Given the description of an element on the screen output the (x, y) to click on. 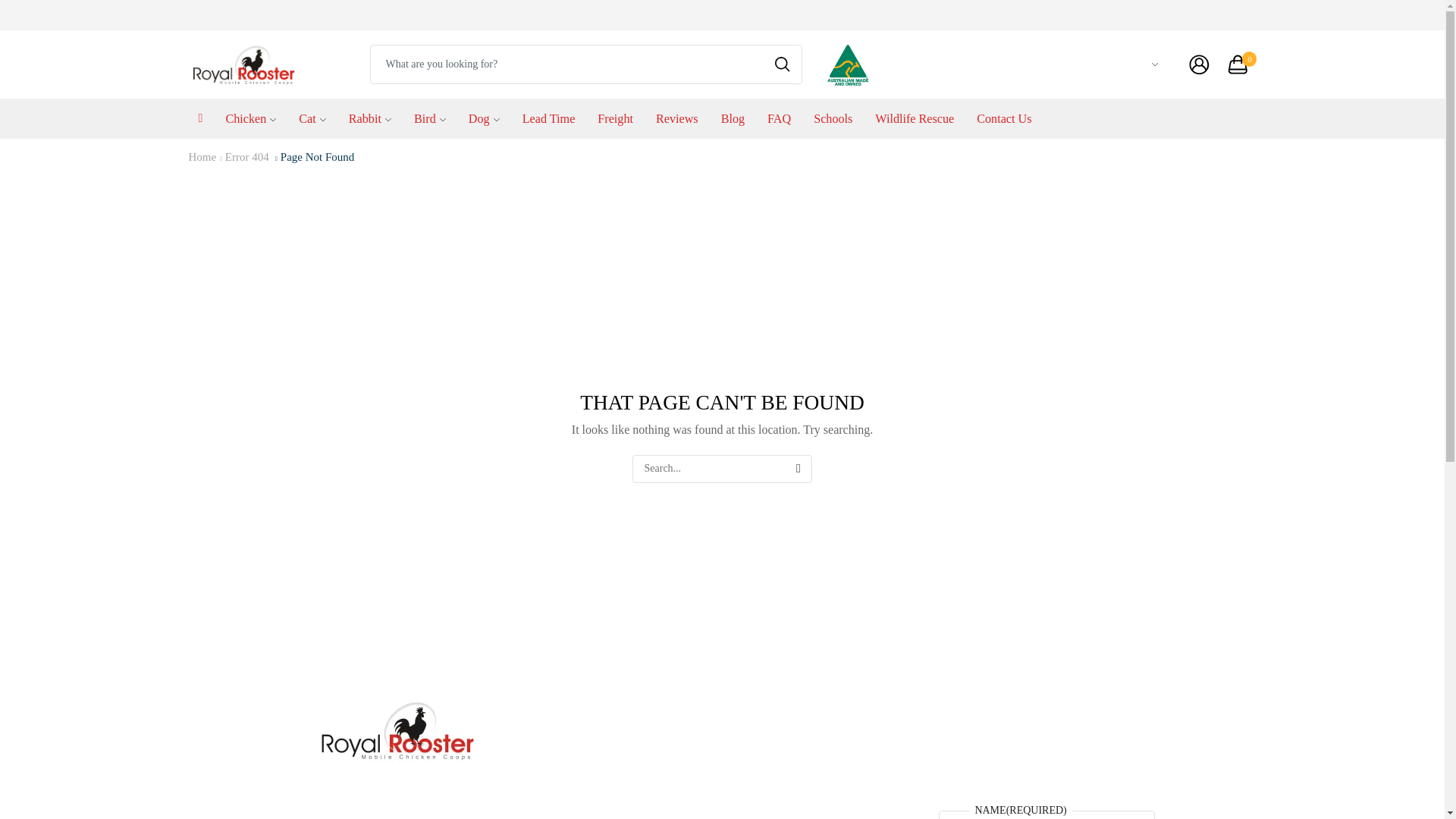
Log in (1153, 404)
0 (1242, 64)
Chicken (250, 118)
